Given the description of an element on the screen output the (x, y) to click on. 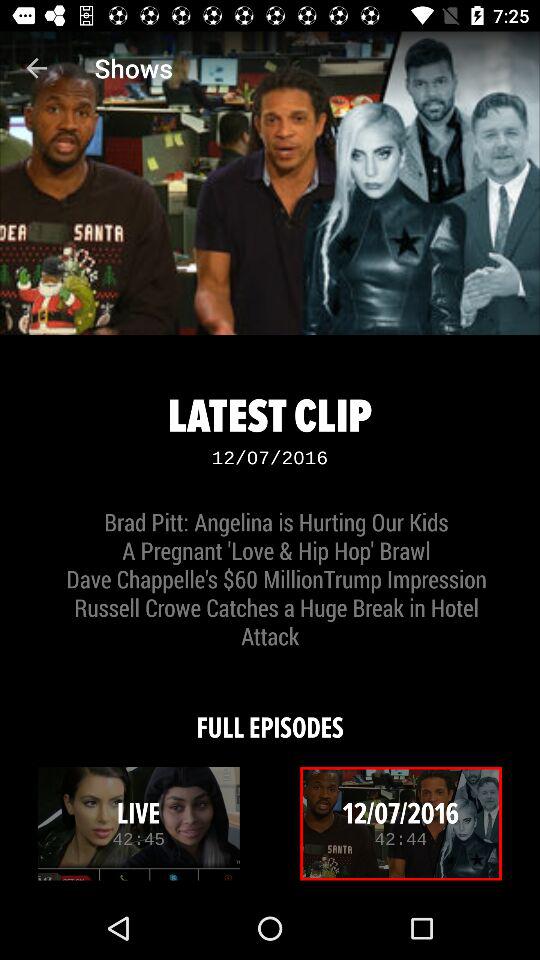
launch the icon to the left of the shows icon (36, 68)
